Given the description of an element on the screen output the (x, y) to click on. 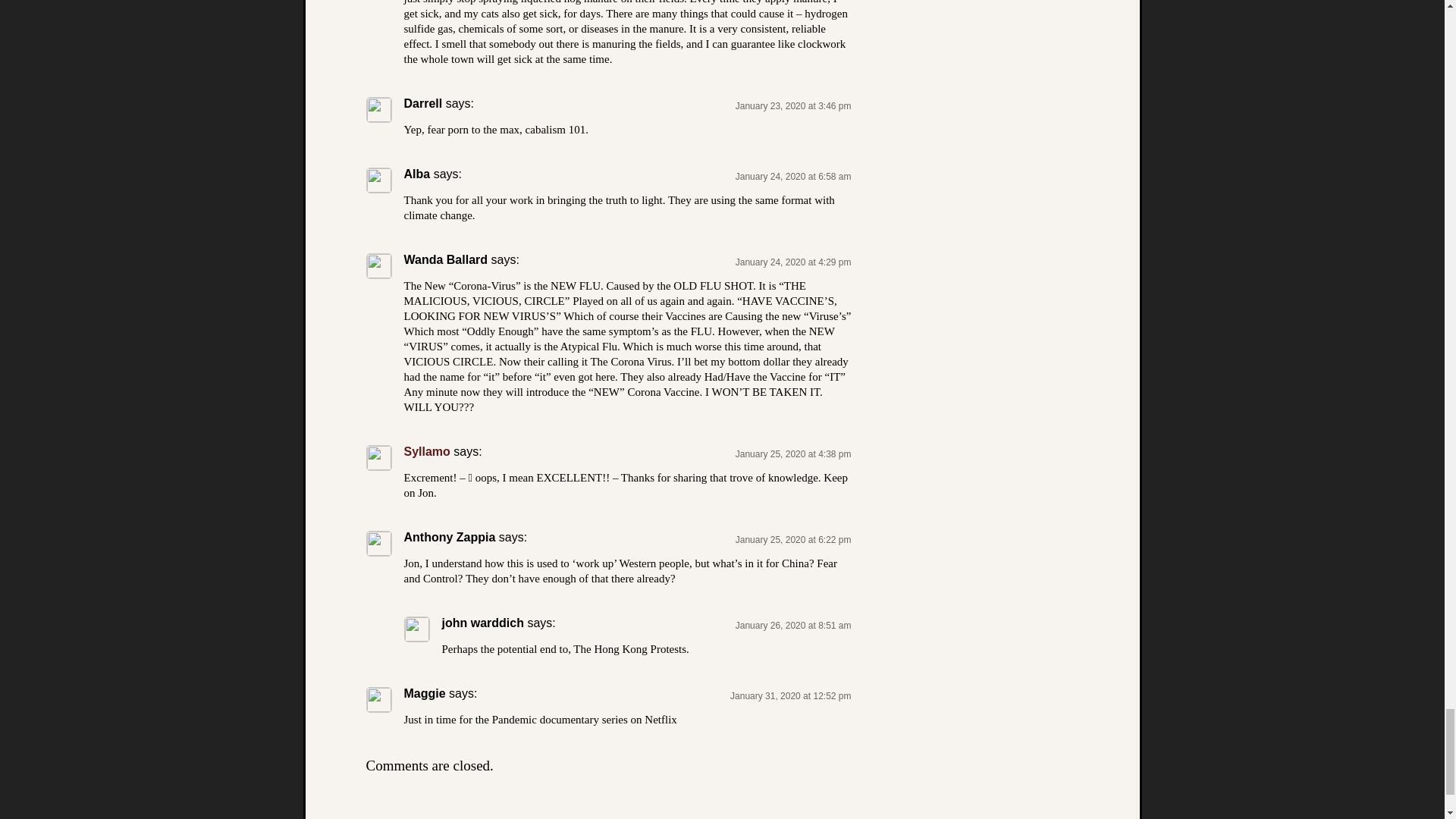
January 24, 2020 at 4:29 pm (793, 262)
January 23, 2020 at 3:46 pm (793, 105)
January 24, 2020 at 6:58 am (793, 176)
